Given the description of an element on the screen output the (x, y) to click on. 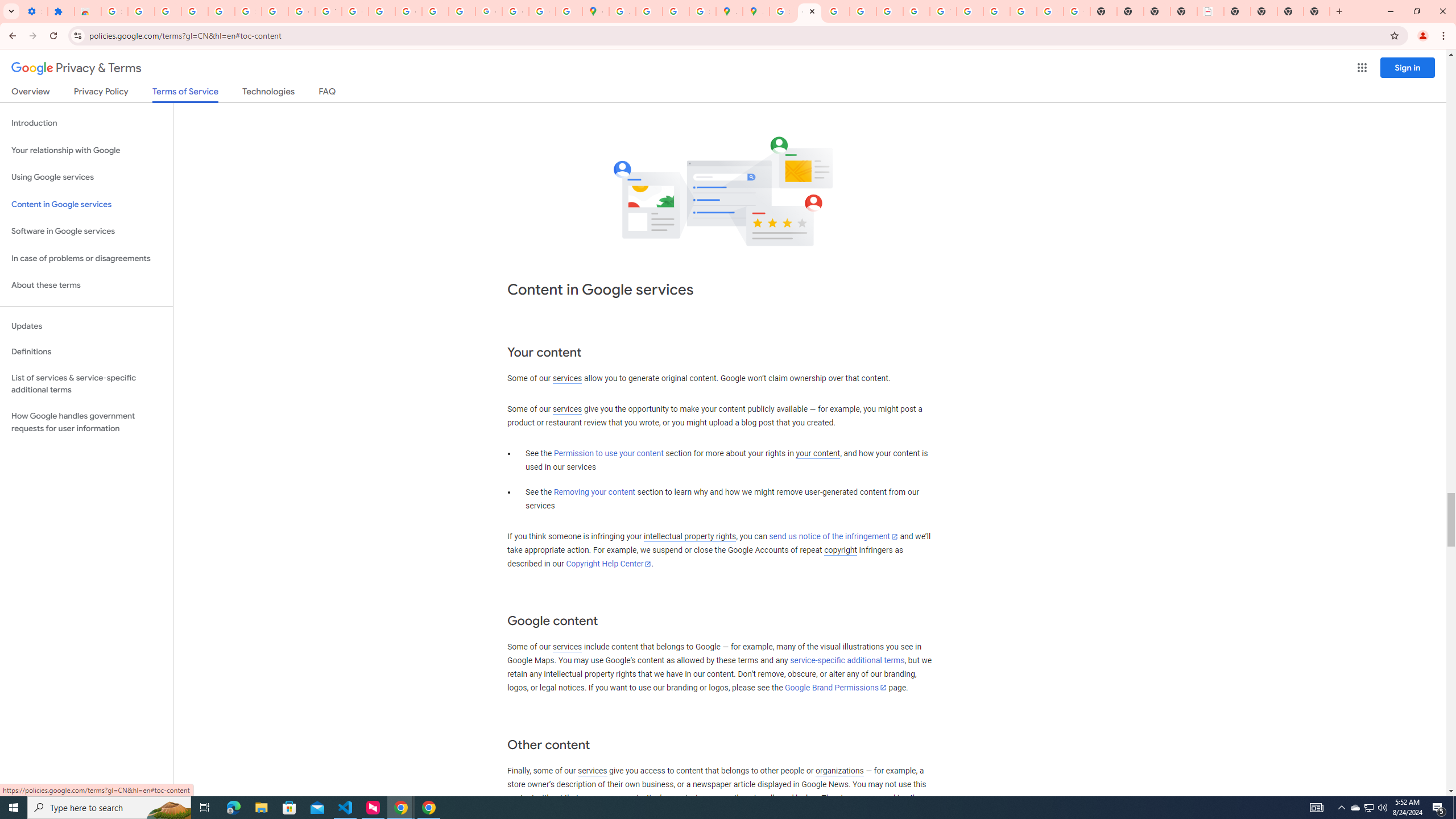
In case of problems or disagreements (86, 258)
Google Maps (595, 11)
